Given the description of an element on the screen output the (x, y) to click on. 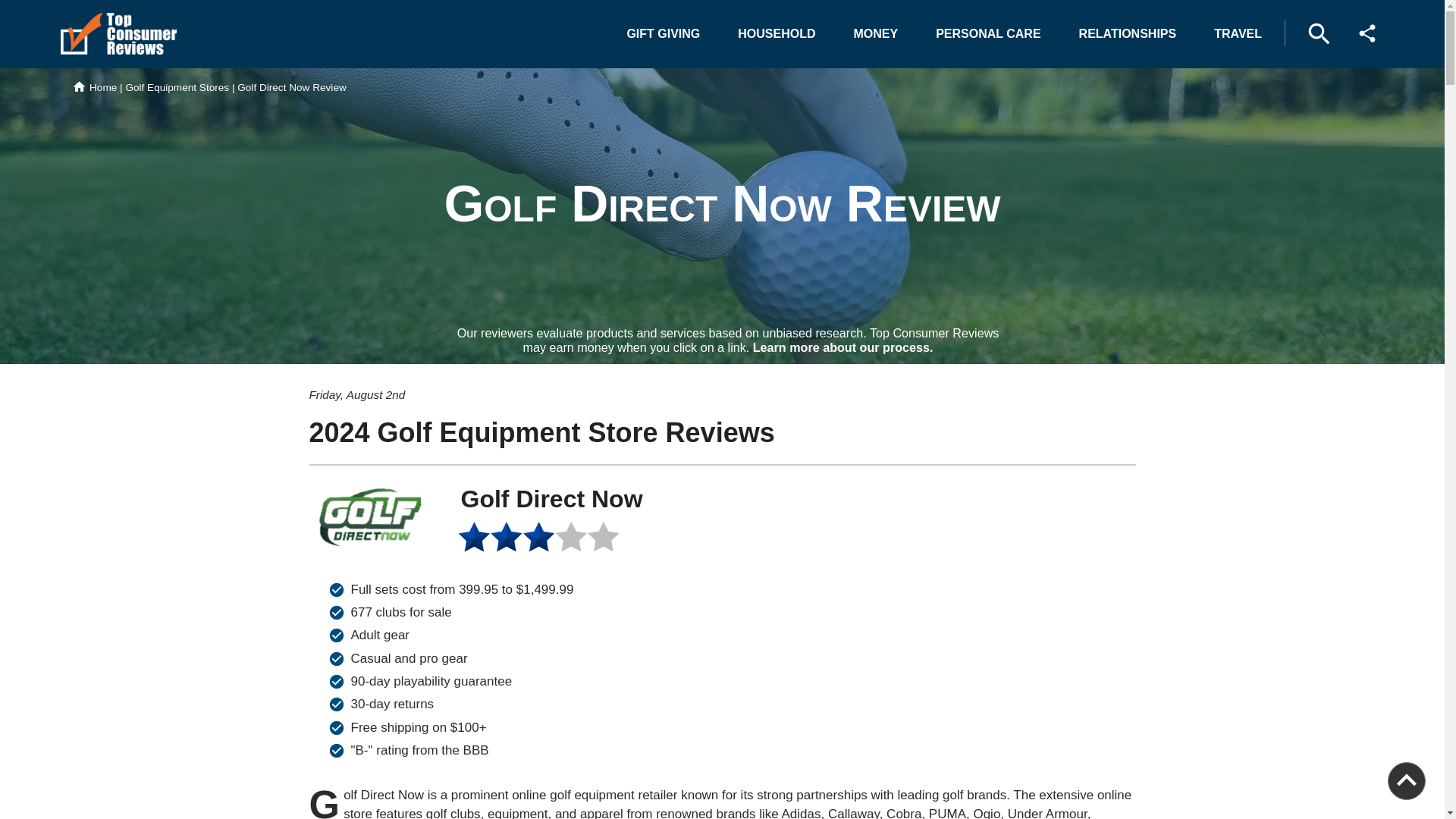
PERSONAL CARE (987, 33)
TRAVEL (1237, 33)
Share Top Consumer Reviews (1367, 32)
MONEY (876, 33)
Search Top Consumer Reviews (1318, 33)
RELATIONSHIPS (1128, 33)
HOUSEHOLD (775, 33)
GIFT GIVING (662, 33)
